Given the description of an element on the screen output the (x, y) to click on. 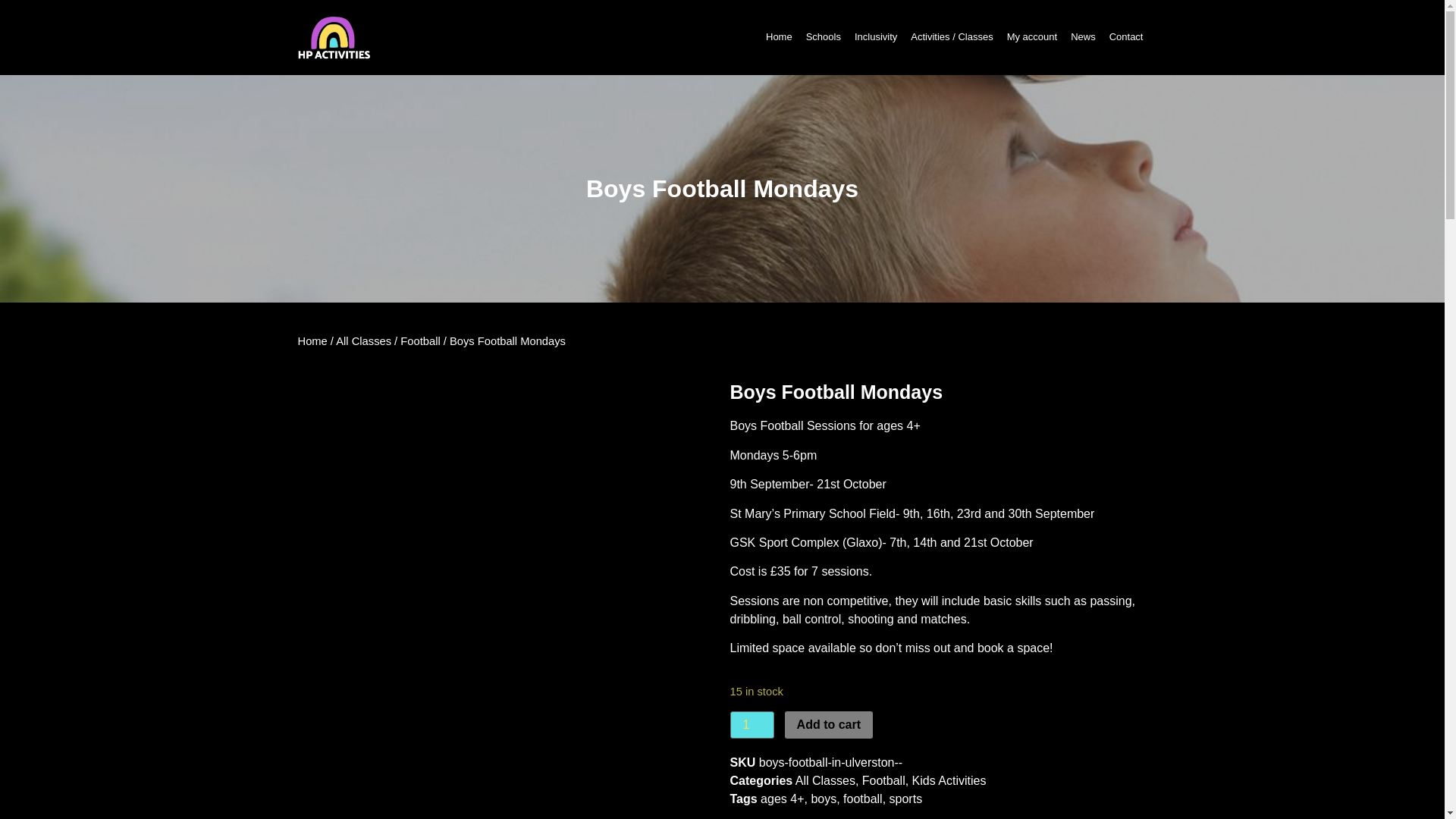
My account (1032, 36)
Schools (823, 36)
News (1083, 36)
Inclusivity (875, 36)
Contact (1126, 36)
1 (751, 724)
Home (778, 36)
